Given the description of an element on the screen output the (x, y) to click on. 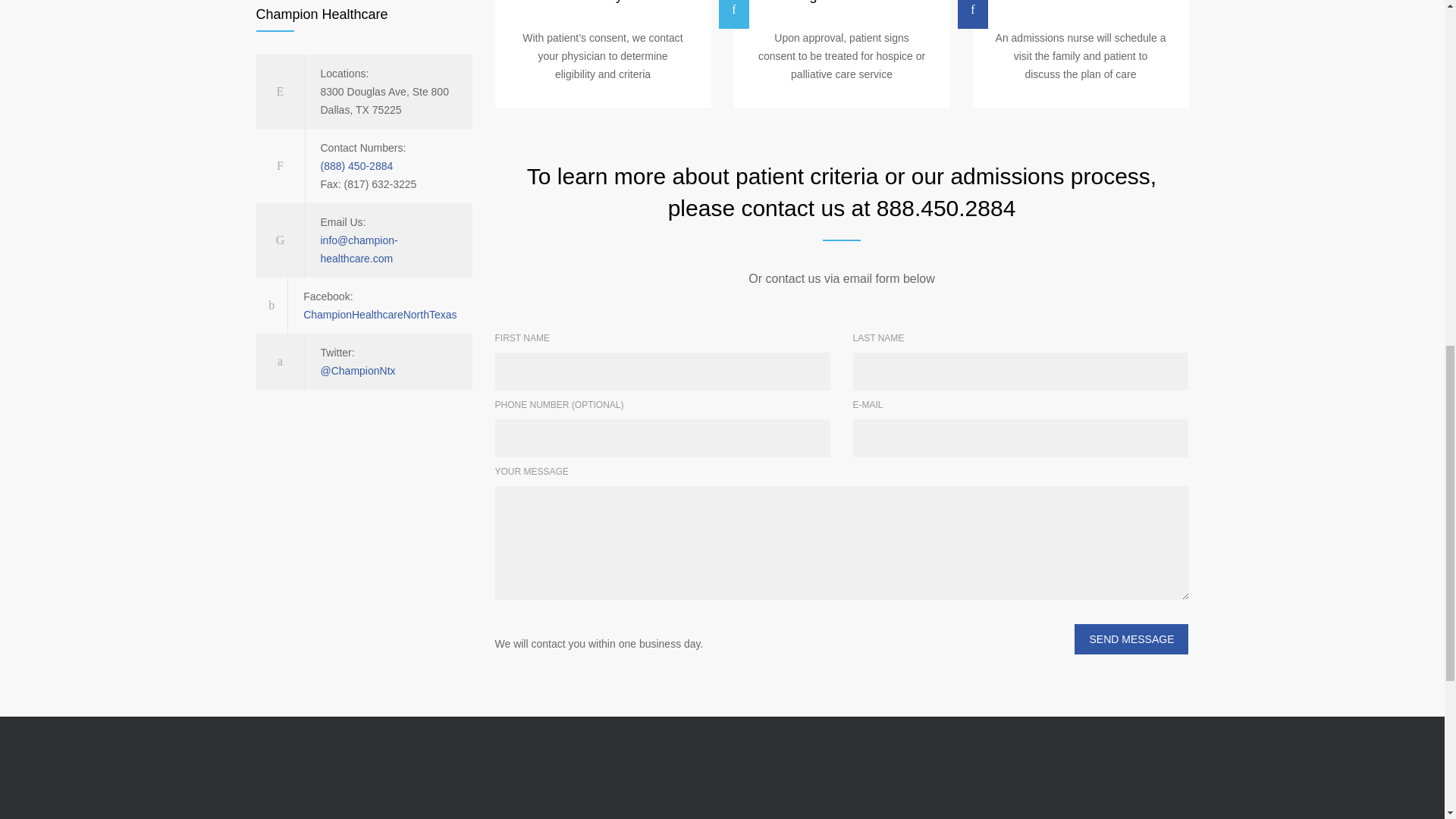
SEND MESSAGE (1131, 639)
ChampionHealthcareNorthTexas (379, 314)
SEND MESSAGE (1131, 639)
